Given the description of an element on the screen output the (x, y) to click on. 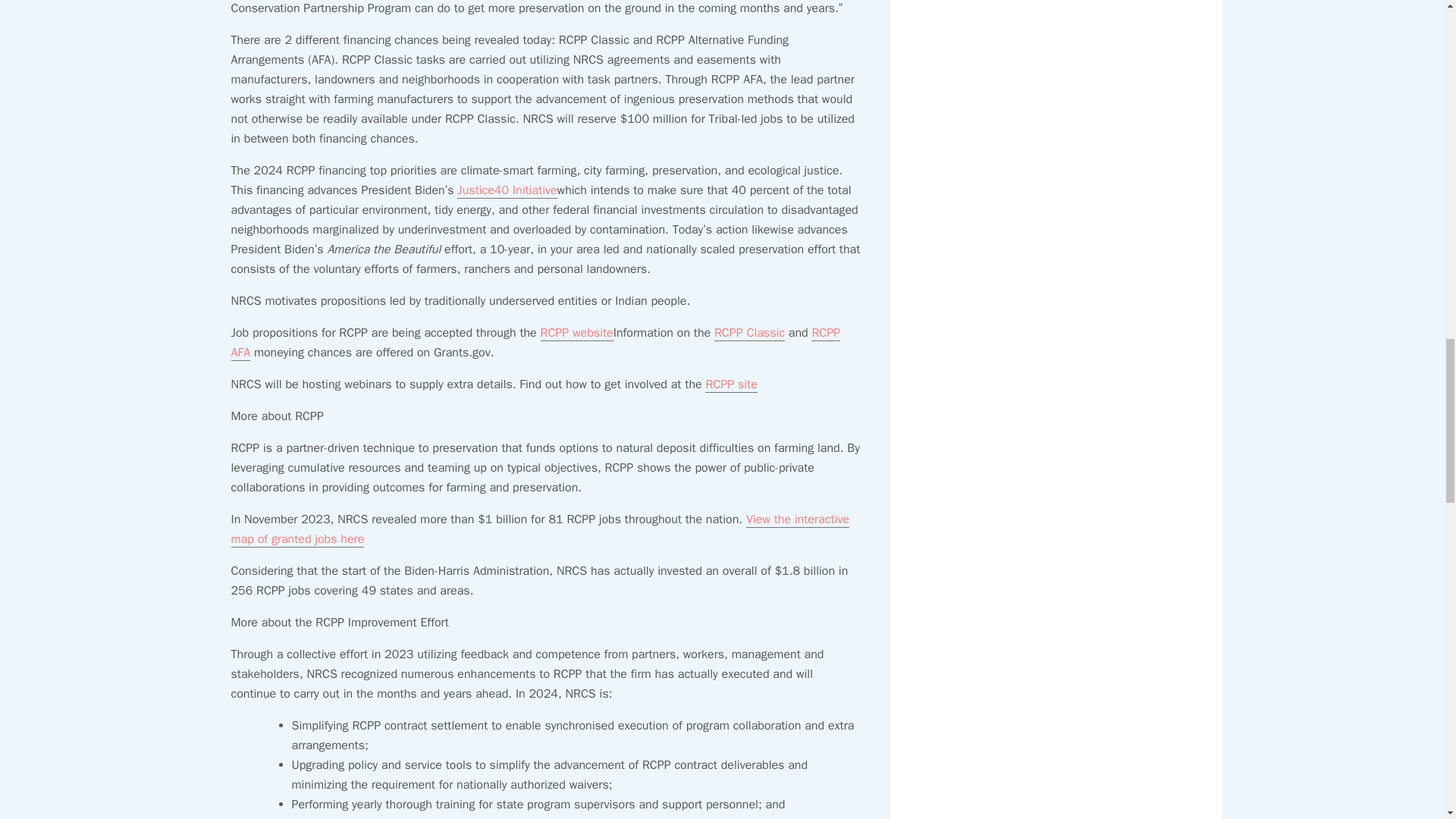
RCPP AFA (535, 343)
Justice40 Initiative (506, 190)
RCPP site (730, 384)
RCPP website (576, 333)
RCPP Classic (749, 333)
View the interactive map of granted jobs here (539, 529)
